Given the description of an element on the screen output the (x, y) to click on. 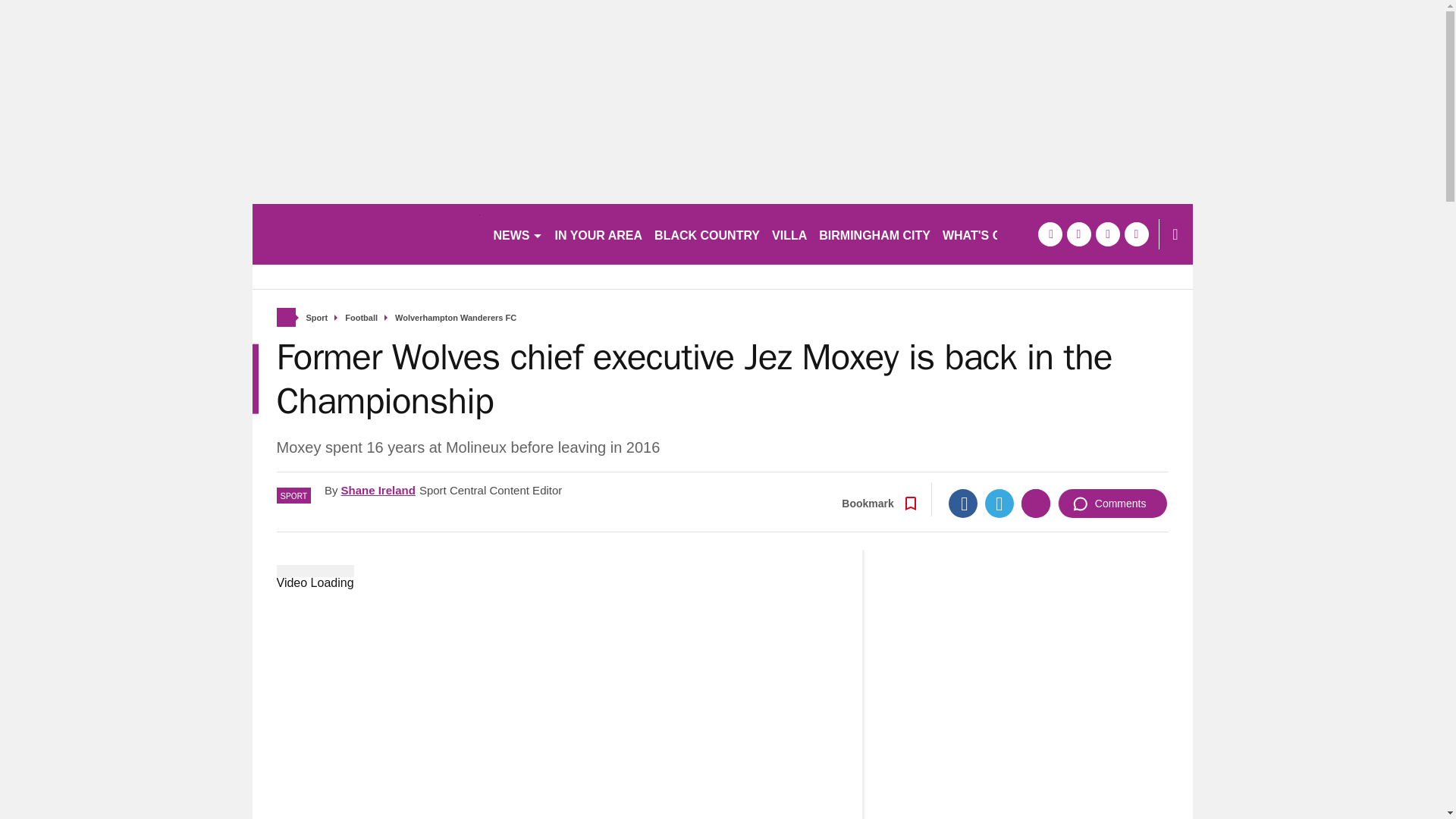
IN YOUR AREA (598, 233)
instagram (1136, 233)
birminghammail (365, 233)
facebook (1048, 233)
BLACK COUNTRY (706, 233)
WHAT'S ON (982, 233)
tiktok (1106, 233)
VILLA (788, 233)
BIRMINGHAM CITY (874, 233)
twitter (1077, 233)
NEWS (517, 233)
Facebook (962, 502)
Comments (1112, 502)
Twitter (999, 502)
